Given the description of an element on the screen output the (x, y) to click on. 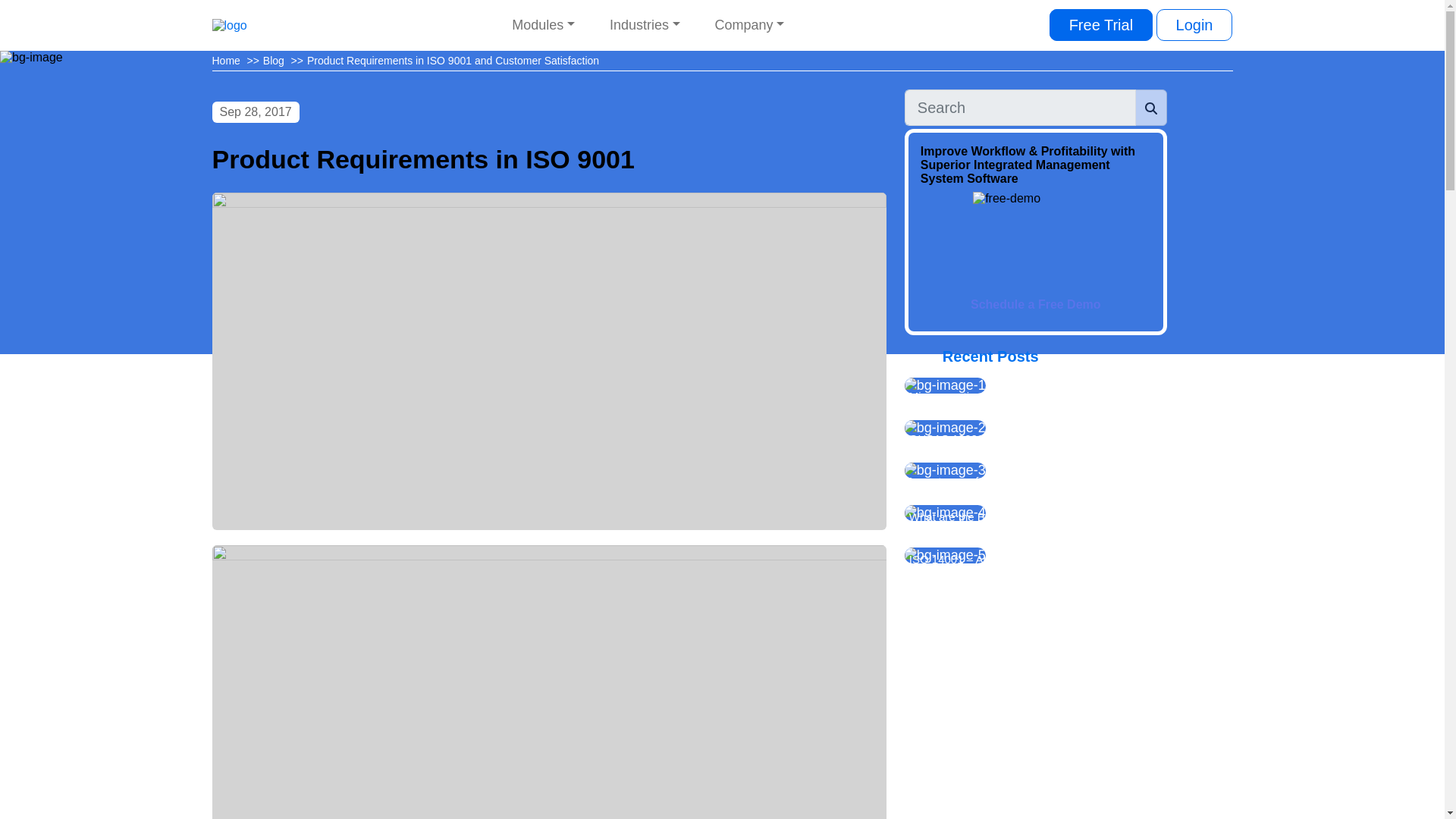
Modules (542, 25)
Company (748, 25)
Industries (644, 25)
